Given the description of an element on the screen output the (x, y) to click on. 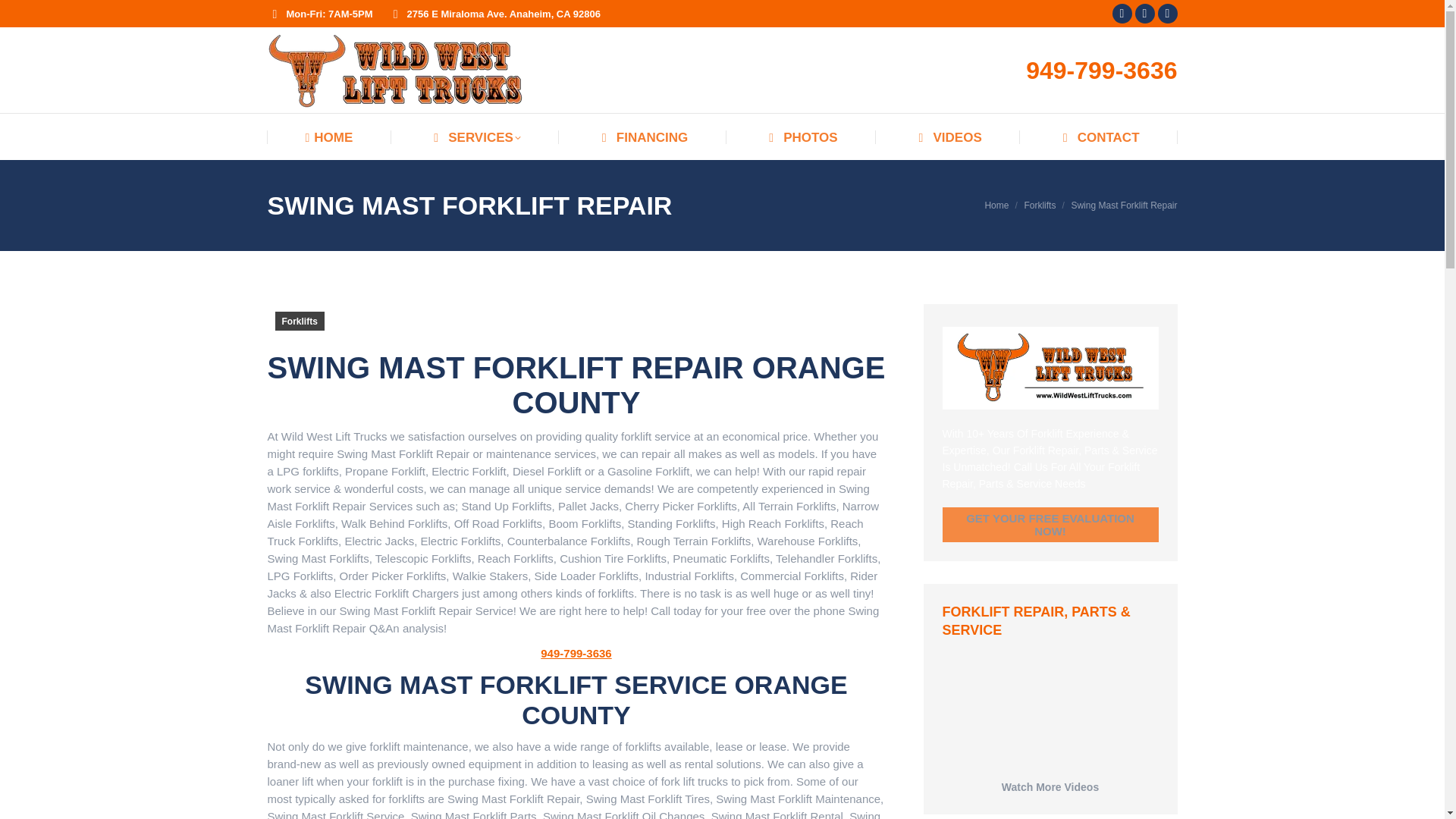
HOME (328, 137)
SERVICES (474, 137)
FINANCING (641, 137)
CONTACT (1099, 137)
Yelp page opens in new window (1122, 13)
Forklifts (299, 321)
Home (996, 204)
YouTube page opens in new window (1144, 13)
Forklifts (1039, 204)
Home (996, 204)
VIDEOS (947, 137)
Yelp page opens in new window (1122, 13)
Mon-Fri: 7AM-5PM (329, 12)
YouTube page opens in new window (1144, 13)
Forklifts (1039, 204)
